Given the description of an element on the screen output the (x, y) to click on. 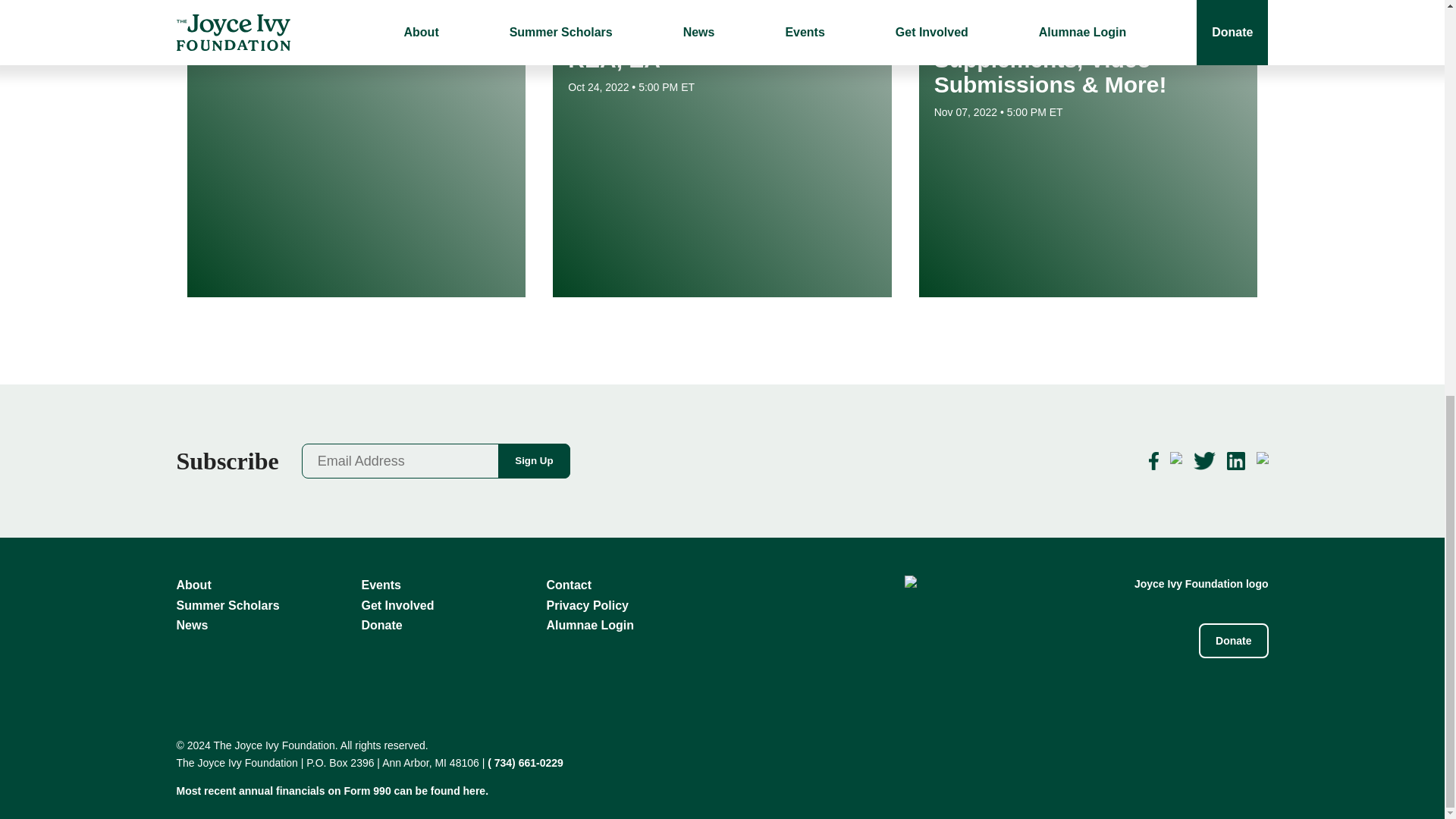
News (192, 625)
Donate (381, 625)
Get Involved (397, 604)
Sign Up (533, 460)
About (193, 584)
Events (380, 584)
Summer Scholars (227, 604)
Privacy Policy (587, 604)
Alumnae Login (589, 625)
Donate (1233, 640)
